Given the description of an element on the screen output the (x, y) to click on. 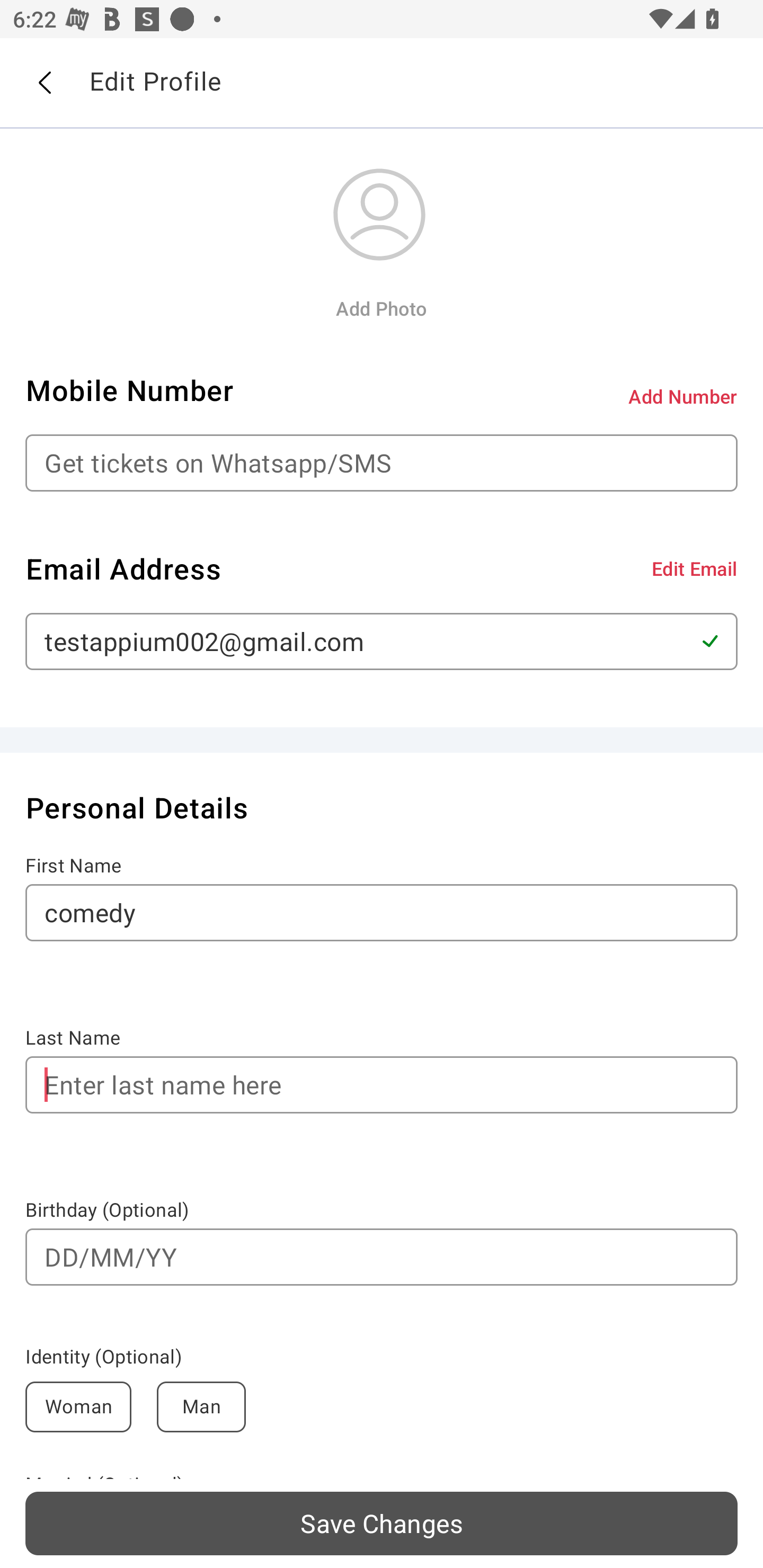
Back Edit Profile (381, 82)
Back (44, 82)
Add Photo (380, 307)
Add Number (682, 395)
Get tickets on Whatsapp/SMS (381, 463)
Edit Email (694, 568)
testappium002@gmail.com (381, 641)
comedy (381, 912)
Enter last name here (381, 1084)
DD/MM/YY (381, 1256)
Woman (78, 1407)
Man (201, 1407)
Save Changes (381, 1523)
